Given the description of an element on the screen output the (x, y) to click on. 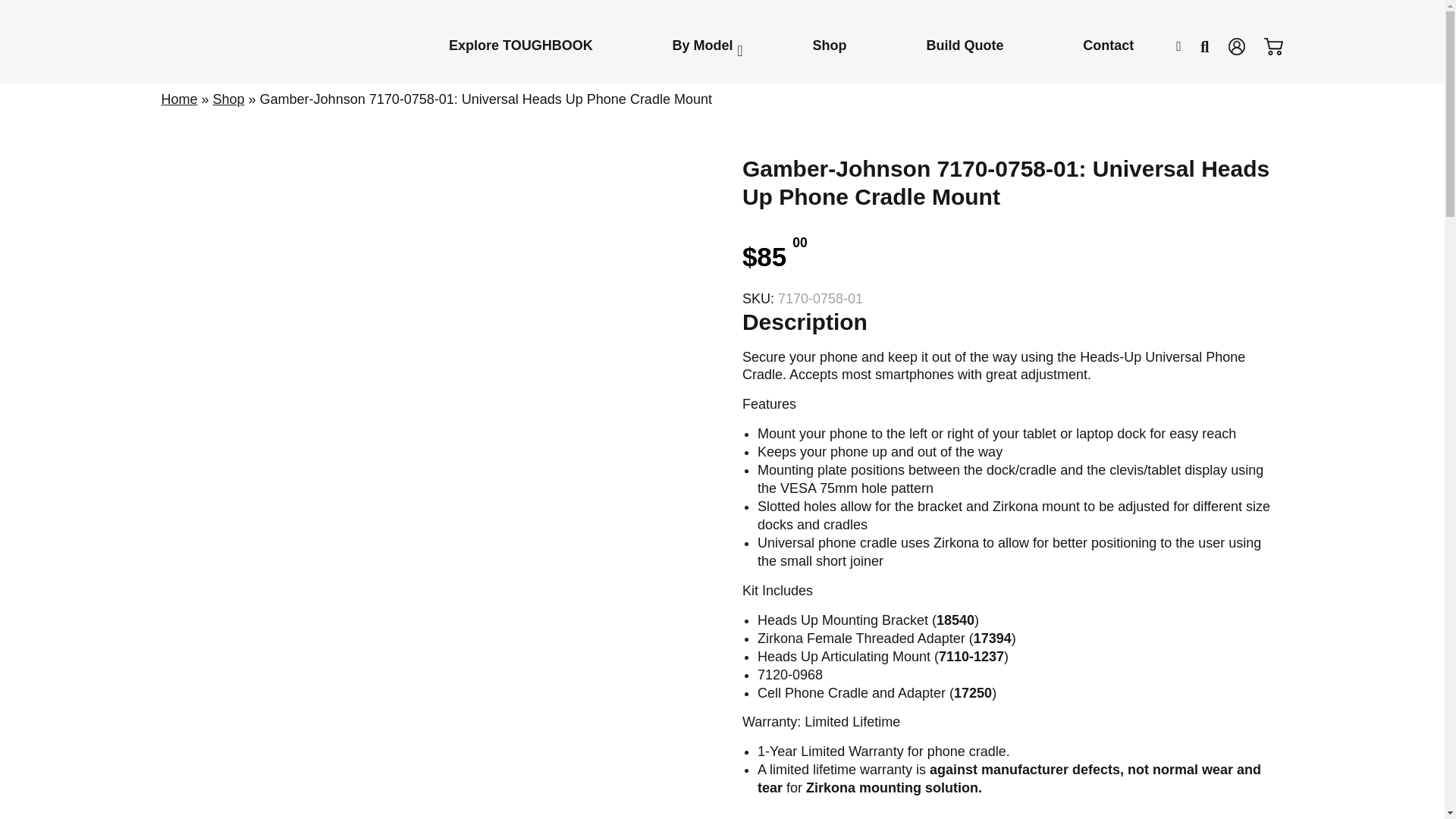
17250 (972, 693)
Home (178, 99)
Contact (1107, 45)
18540 (955, 620)
7110-1237 (971, 656)
Build Quote (964, 45)
Shop (228, 99)
Rugged Depot (243, 31)
By Model (702, 45)
Explore TOUGHBOOK (520, 45)
